Given the description of an element on the screen output the (x, y) to click on. 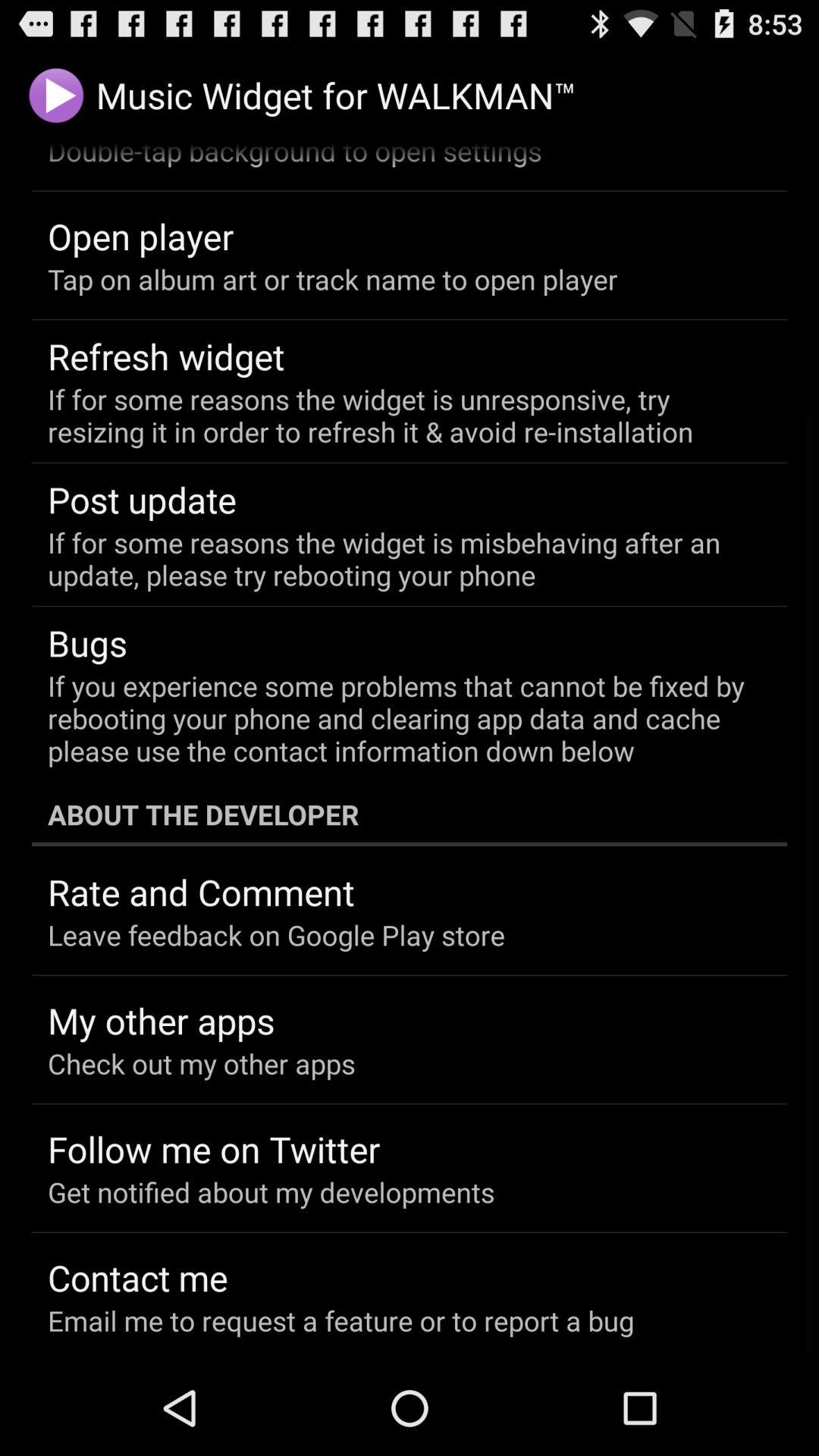
swipe to contact me app (137, 1277)
